Given the description of an element on the screen output the (x, y) to click on. 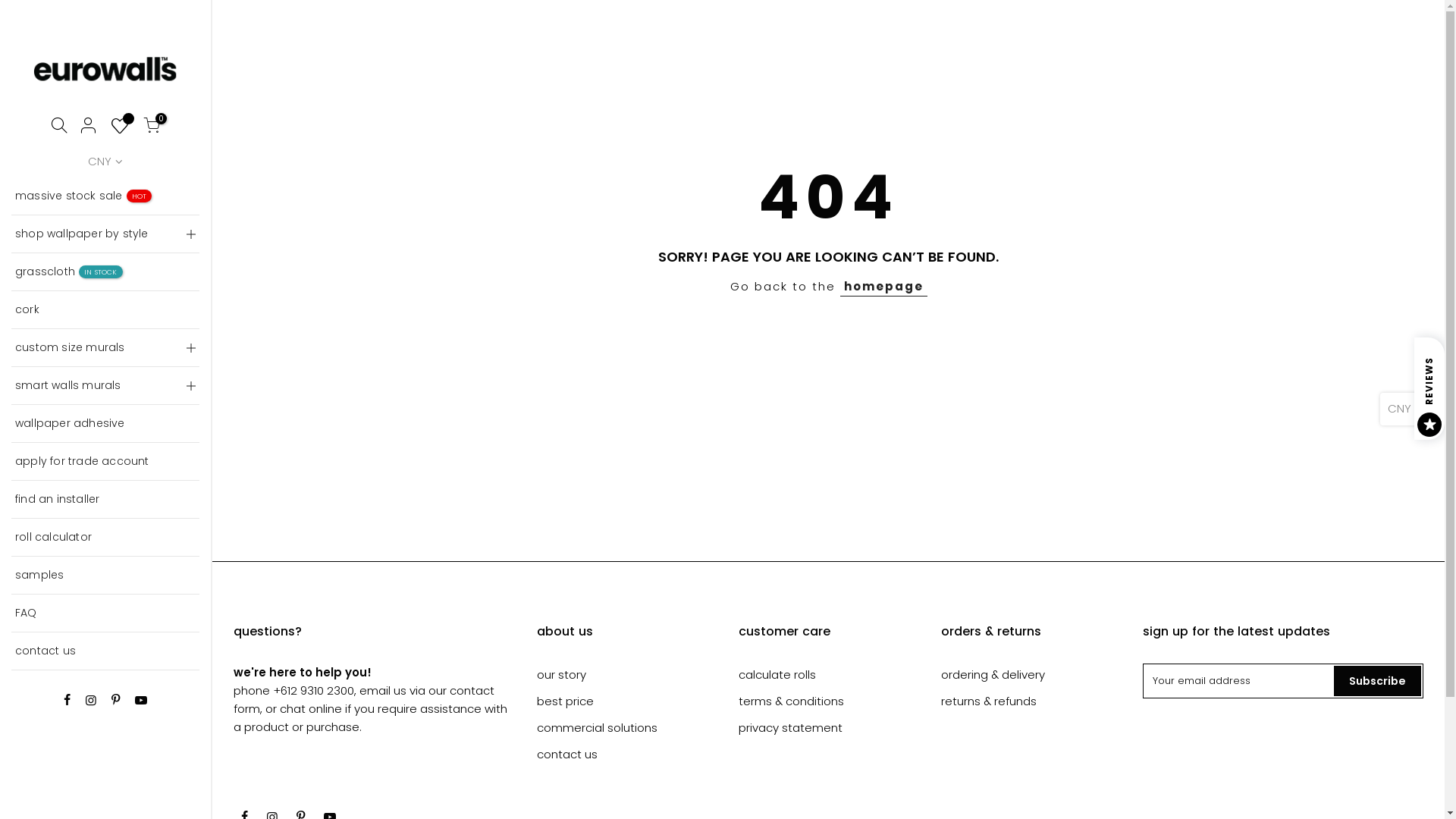
find an installer Element type: text (105, 499)
Register Element type: text (341, 449)
RETURN TO SHOP Element type: text (83, 172)
privacy statement Element type: text (790, 727)
contact us Element type: text (105, 651)
Sign in Element type: text (341, 219)
roll calculator Element type: text (105, 537)
contact form Element type: text (363, 699)
0 Element type: text (120, 127)
ordering & delivery Element type: text (992, 674)
homepage Element type: text (883, 286)
Subscribe Element type: text (1377, 680)
wallpaper adhesive Element type: text (105, 423)
smart walls murals Element type: text (105, 385)
calculate rolls Element type: text (776, 674)
cork Element type: text (105, 310)
massive stock sale
HOT Element type: text (105, 196)
samples Element type: text (105, 575)
wallpaper adhesive Element type: text (117, 225)
apply for trade account Element type: text (105, 461)
Reset password Element type: text (341, 148)
commercial solutions Element type: text (596, 727)
contact us Element type: text (566, 754)
our story Element type: text (561, 674)
FAQ Element type: text (105, 613)
terms & conditions Element type: text (791, 701)
0 Element type: text (151, 127)
shop wallpaper by style Element type: text (105, 234)
best price Element type: text (564, 701)
grasscloth
IN STOCK Element type: text (105, 272)
returns & refunds Element type: text (988, 701)
custom size murals Element type: text (105, 348)
